Given the description of an element on the screen output the (x, y) to click on. 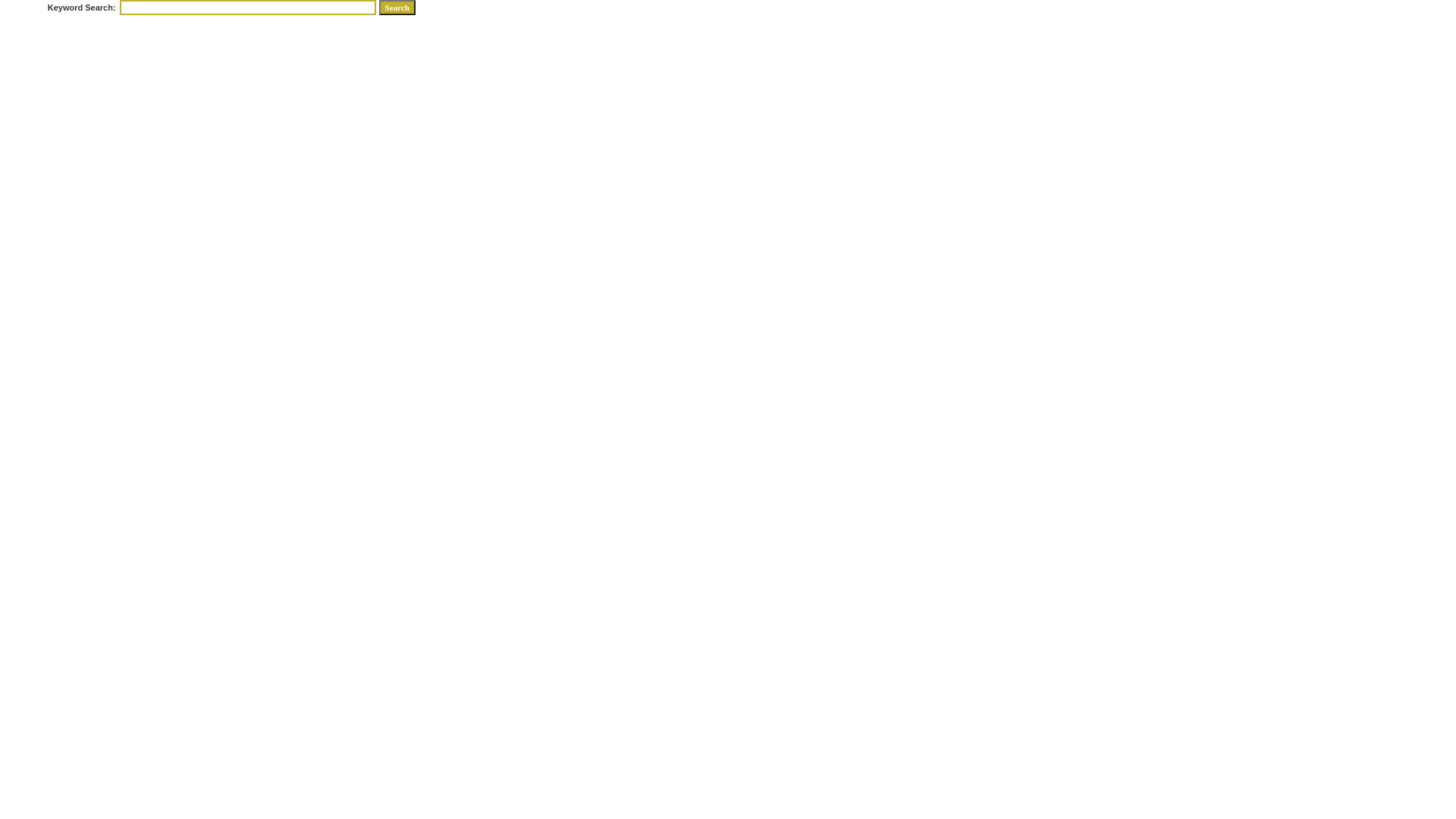
Search Element type: text (397, 7)
